Given the description of an element on the screen output the (x, y) to click on. 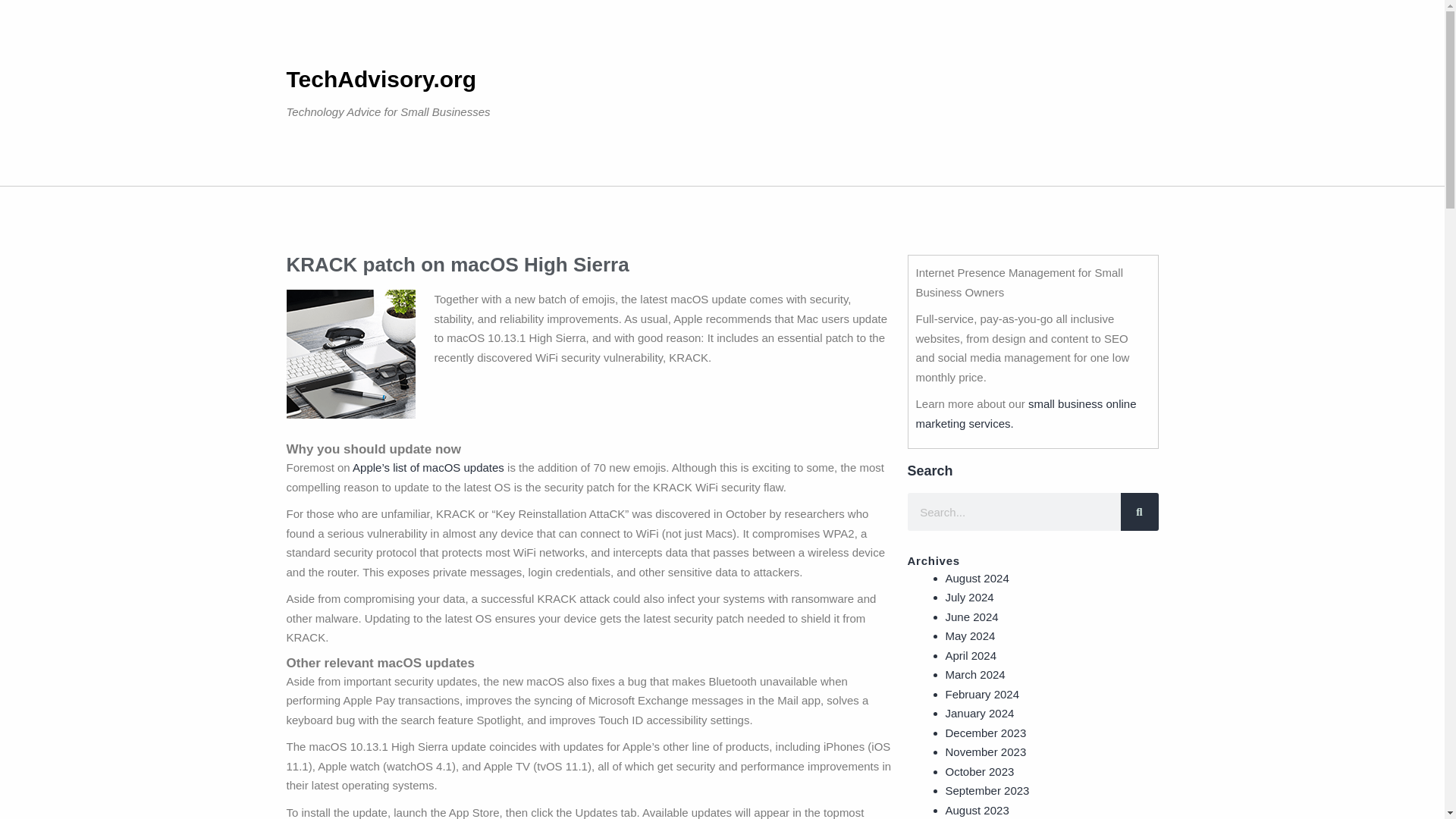
July 2024 (968, 596)
August 2023 (976, 809)
November 2023 (985, 751)
September 2023 (986, 789)
October 2023 (978, 770)
March 2024 (974, 674)
small business online marketing services. (1026, 413)
June 2024 (970, 615)
January 2024 (978, 712)
TechAdvisory.org (381, 78)
